Given the description of an element on the screen output the (x, y) to click on. 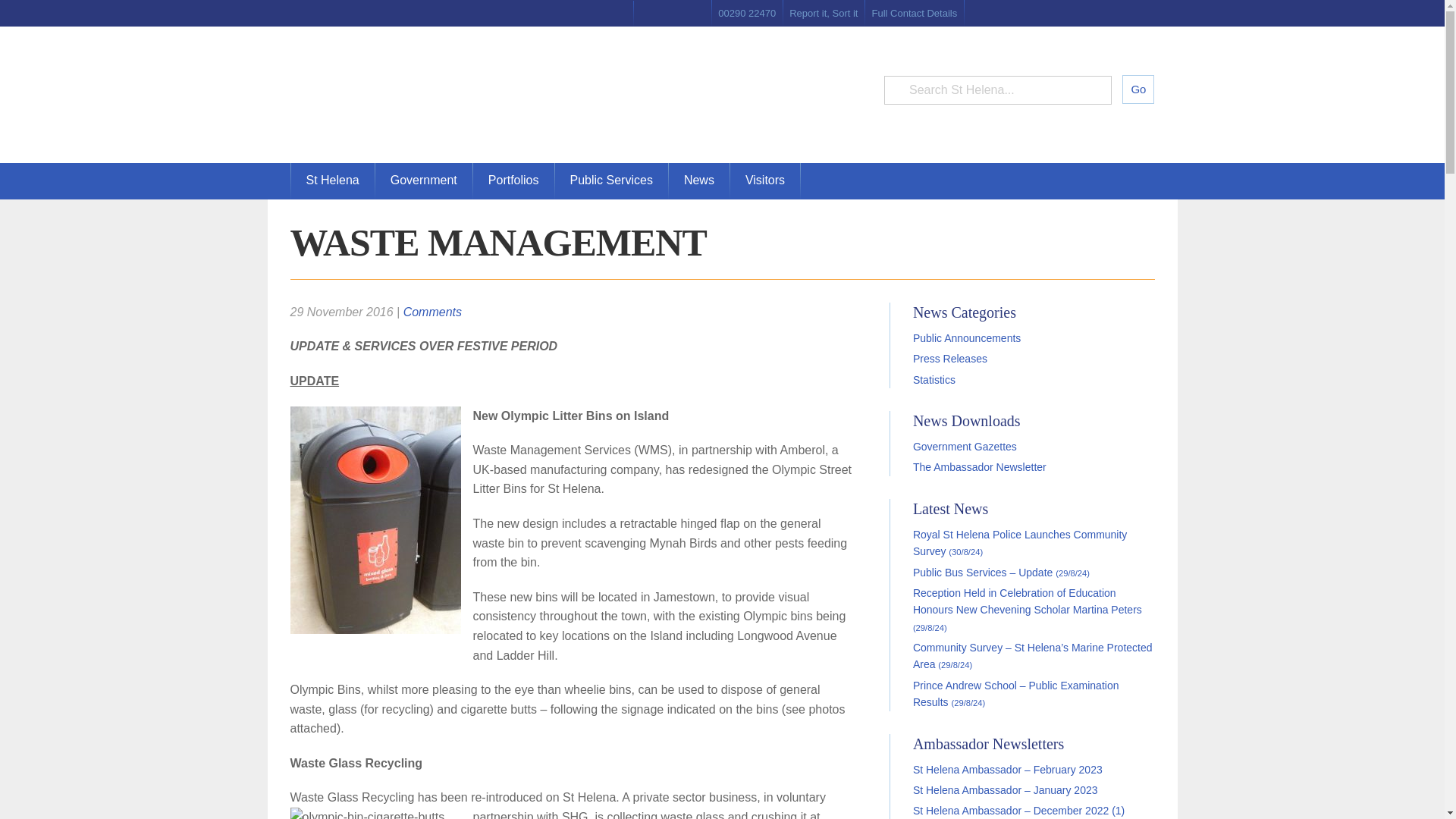
Go (1138, 89)
Go (1138, 89)
